Given the description of an element on the screen output the (x, y) to click on. 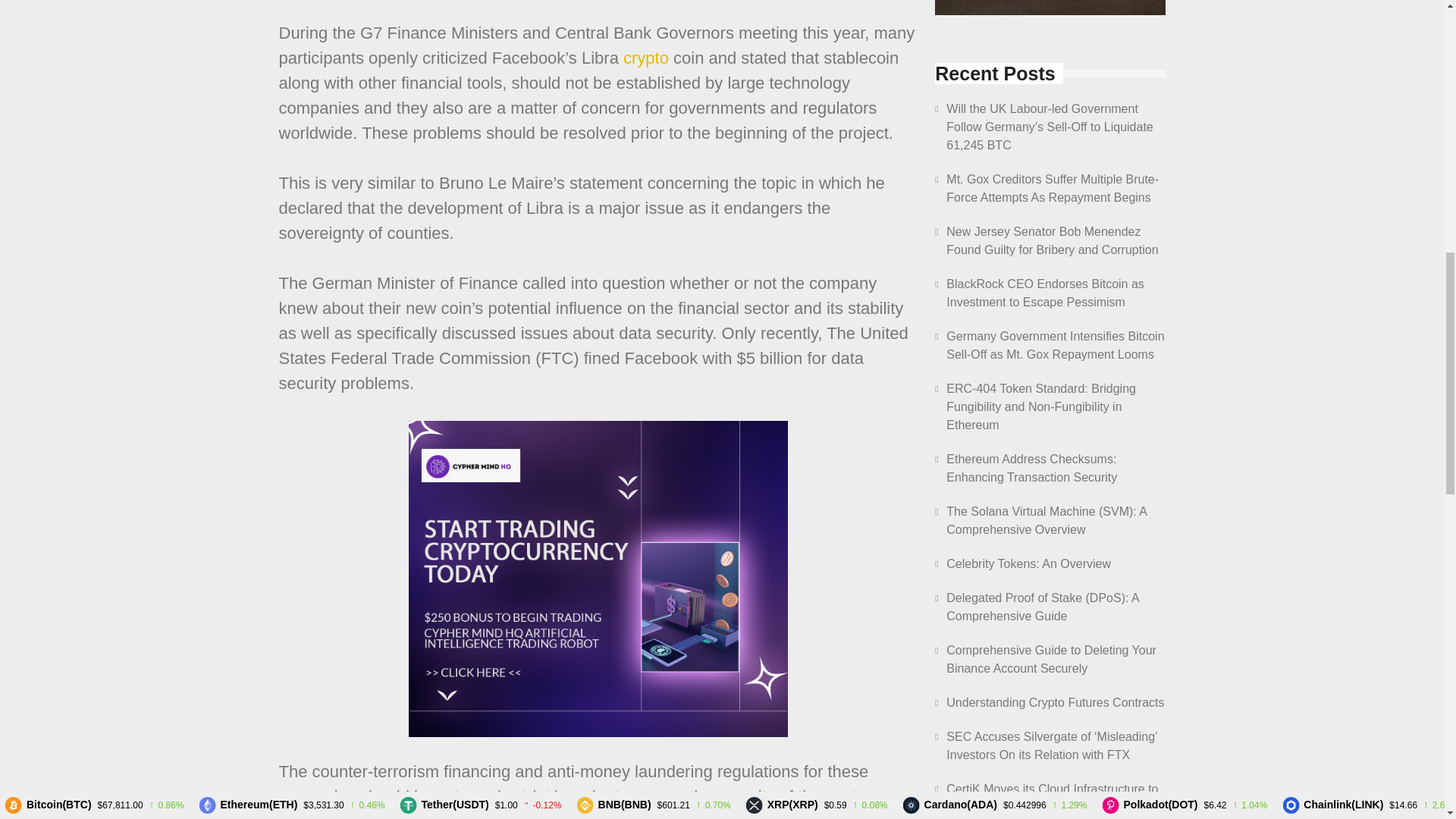
crypto (645, 57)
crypto (645, 57)
Trading Robot Review (1050, 7)
